Given the description of an element on the screen output the (x, y) to click on. 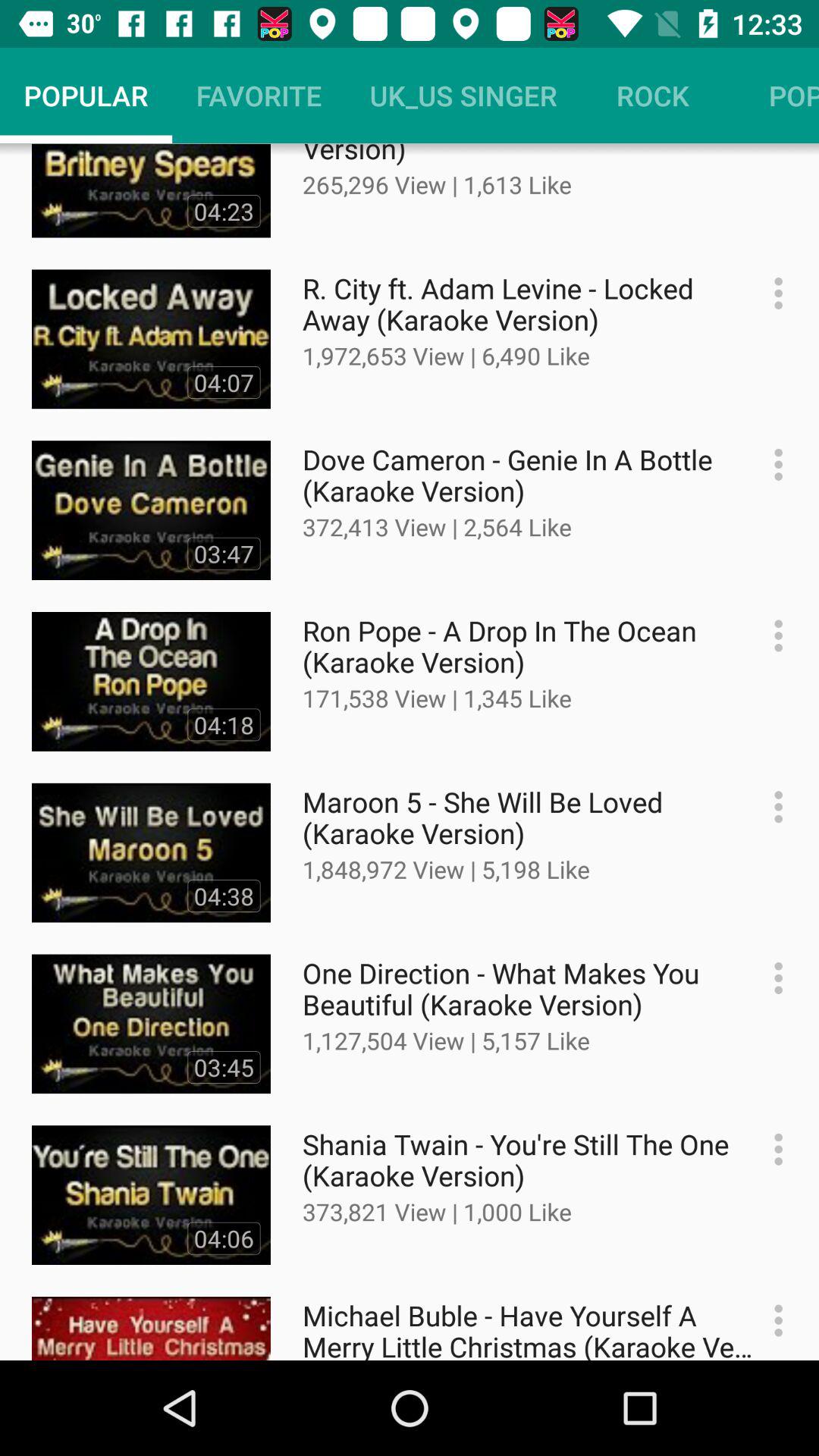
open video options (770, 1320)
